Given the description of an element on the screen output the (x, y) to click on. 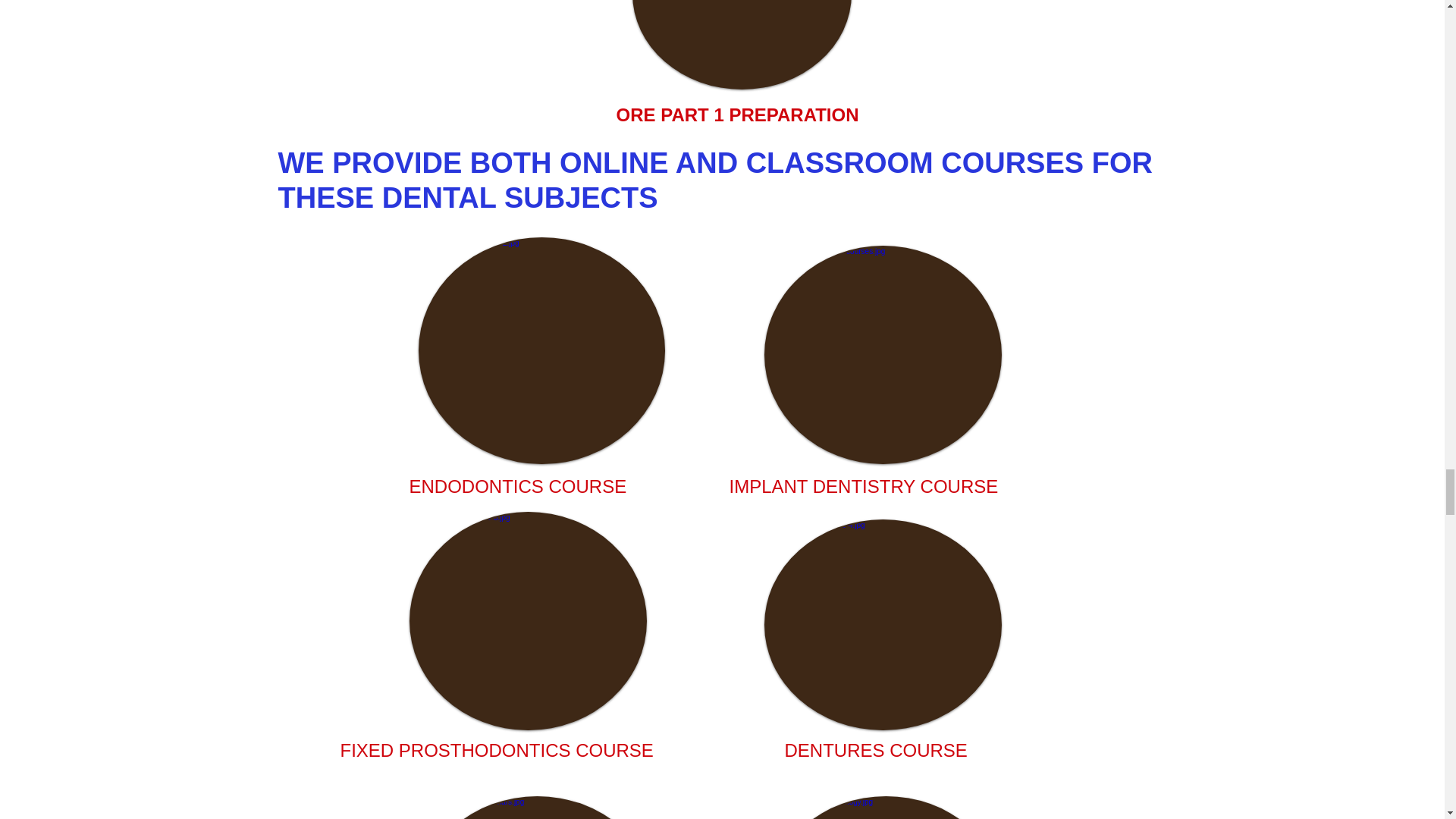
ORE PART 1 PREPARATION (737, 114)
ENDODONTICS COURSE (518, 485)
